Given the description of an element on the screen output the (x, y) to click on. 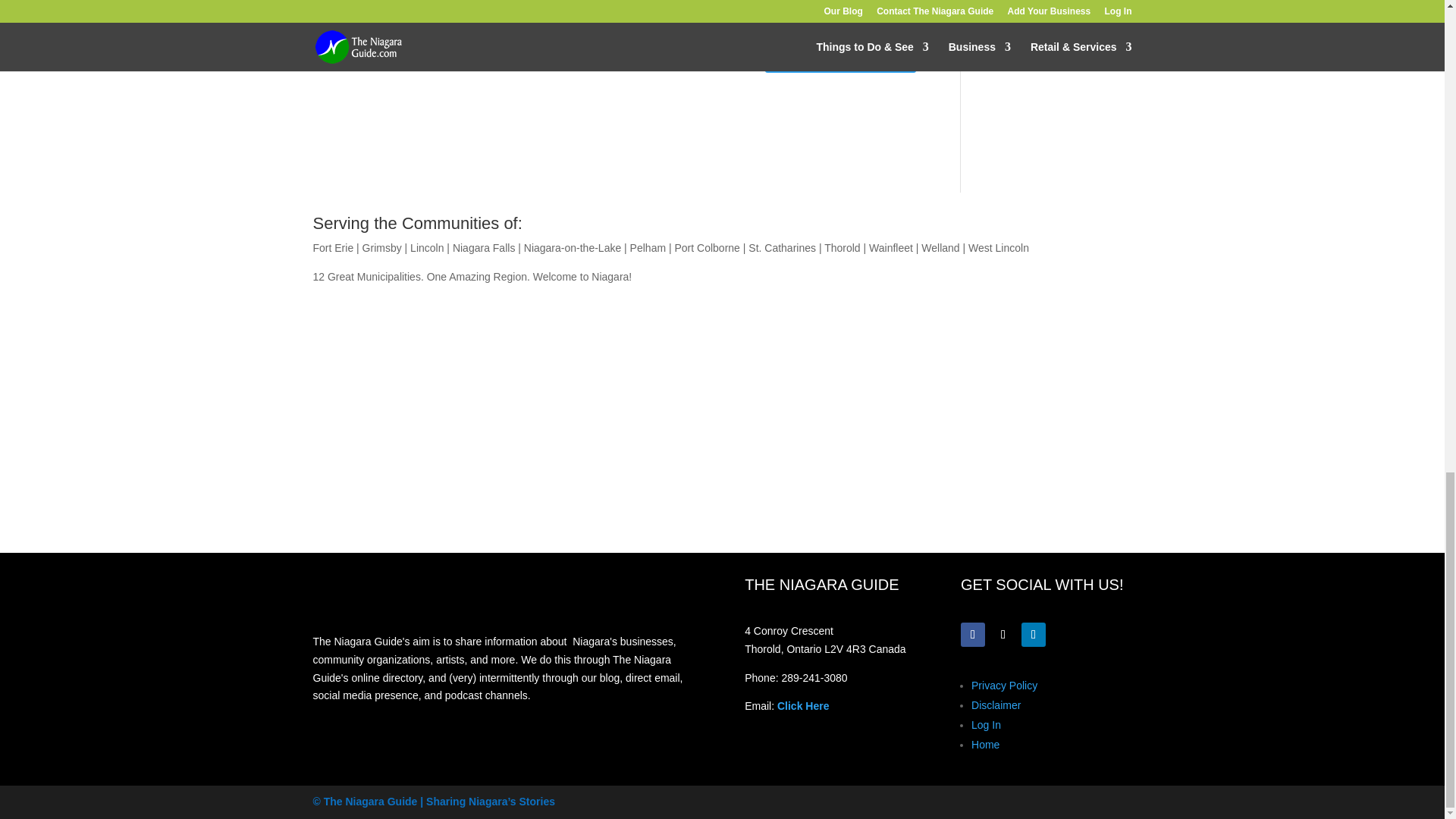
Follow on LinkedIn (1033, 634)
Follow on Facebook (972, 634)
Follow on Twitter (1002, 634)
Submit Comment (840, 53)
